Given the description of an element on the screen output the (x, y) to click on. 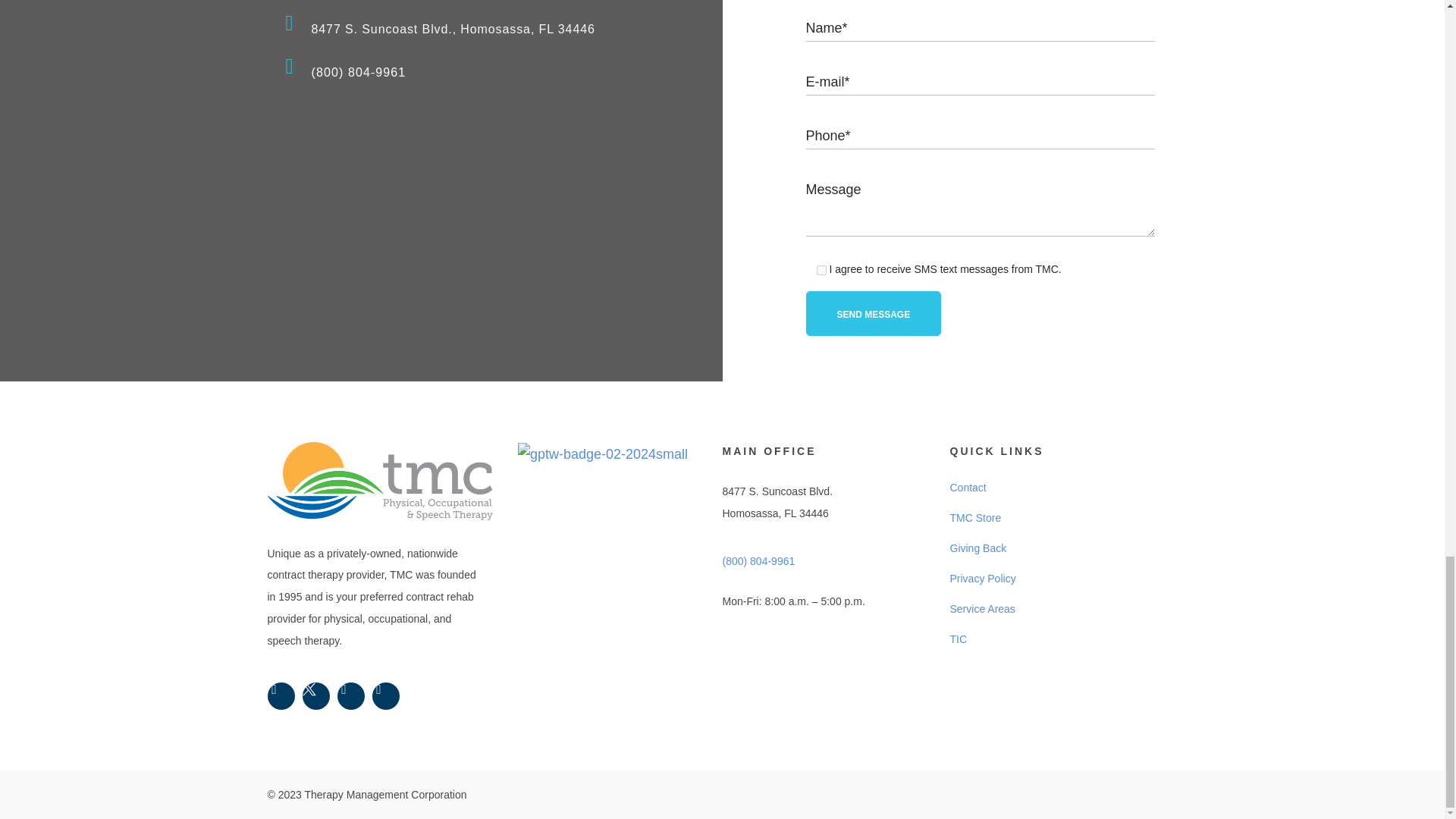
Send Message (872, 313)
I agree to receive SMS text messages from TMC. (820, 270)
gptw-badge-02-2024small (602, 454)
